Given the description of an element on the screen output the (x, y) to click on. 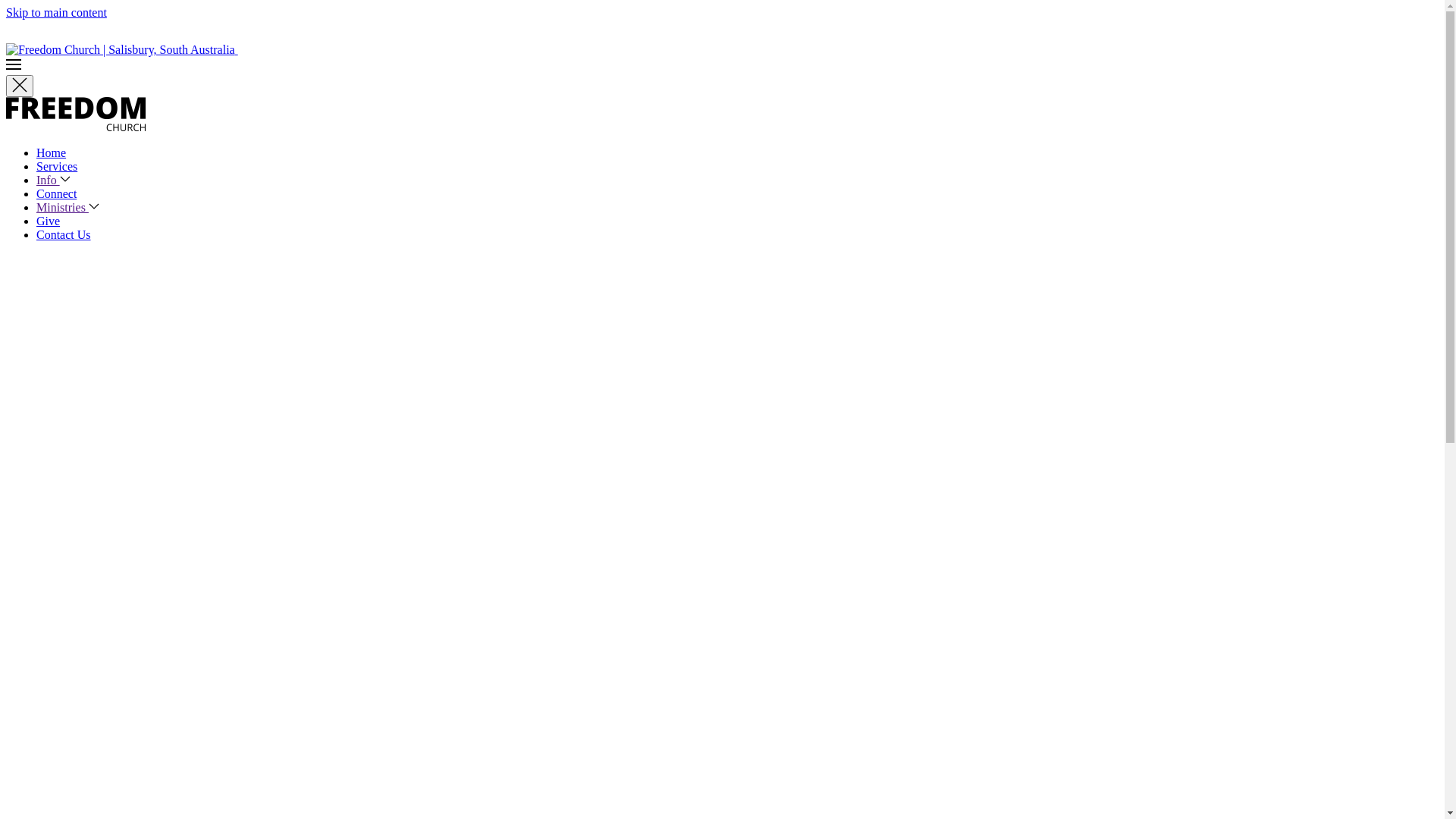
Skip to main content Element type: text (56, 12)
Contact Us Element type: text (63, 234)
Home Element type: text (50, 152)
Connect Element type: text (56, 193)
Services Element type: text (56, 166)
Info Element type: text (53, 179)
Ministries Element type: text (67, 206)
Give Element type: text (47, 220)
